Given the description of an element on the screen output the (x, y) to click on. 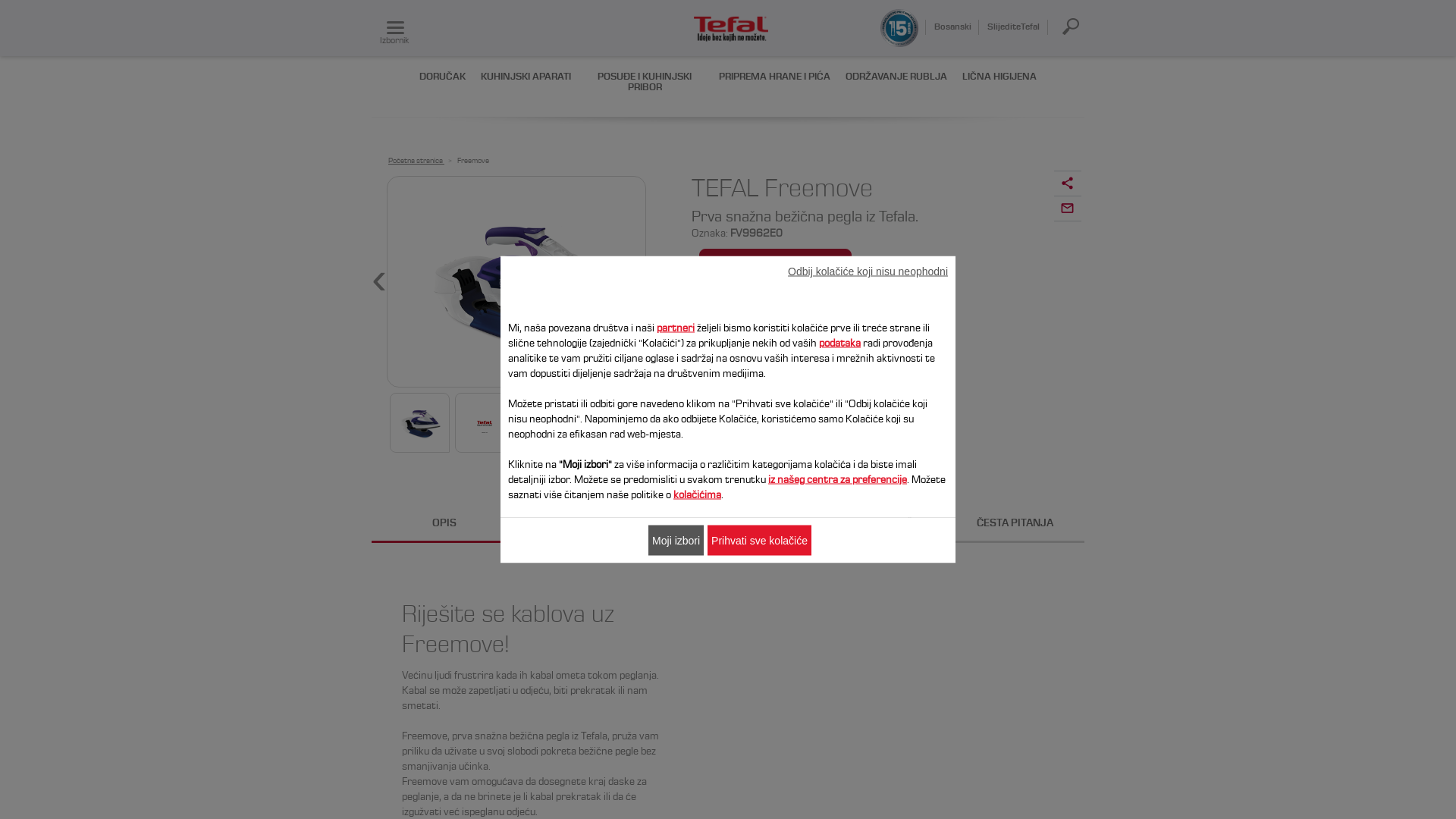
Freemove Element type: text (473, 160)
E-mail Element type: hover (1067, 208)
Logo-Tefal-BA.png Element type: hover (731, 29)
OSOBINE Element type: text (729, 523)
Moji izbori Element type: text (675, 539)
OPIS Element type: text (444, 523)
Freemove  Element type: hover (516, 281)
GDJE KUPITI Element type: text (775, 261)
Freemove  Element type: hover (549, 423)
partneri Element type: text (675, 328)
KUHINJSKI APARATI Element type: text (525, 76)
Izbornik Element type: text (395, 27)
Freemove  Element type: hover (515, 281)
Freemove  Element type: hover (419, 422)
podataka Element type: text (839, 343)
PREDNOSTI Element type: text (586, 523)
Freemove  Element type: hover (484, 423)
Bosanski Element type: text (952, 26)
SlijediteTefal Element type: text (1014, 26)
